Given the description of an element on the screen output the (x, y) to click on. 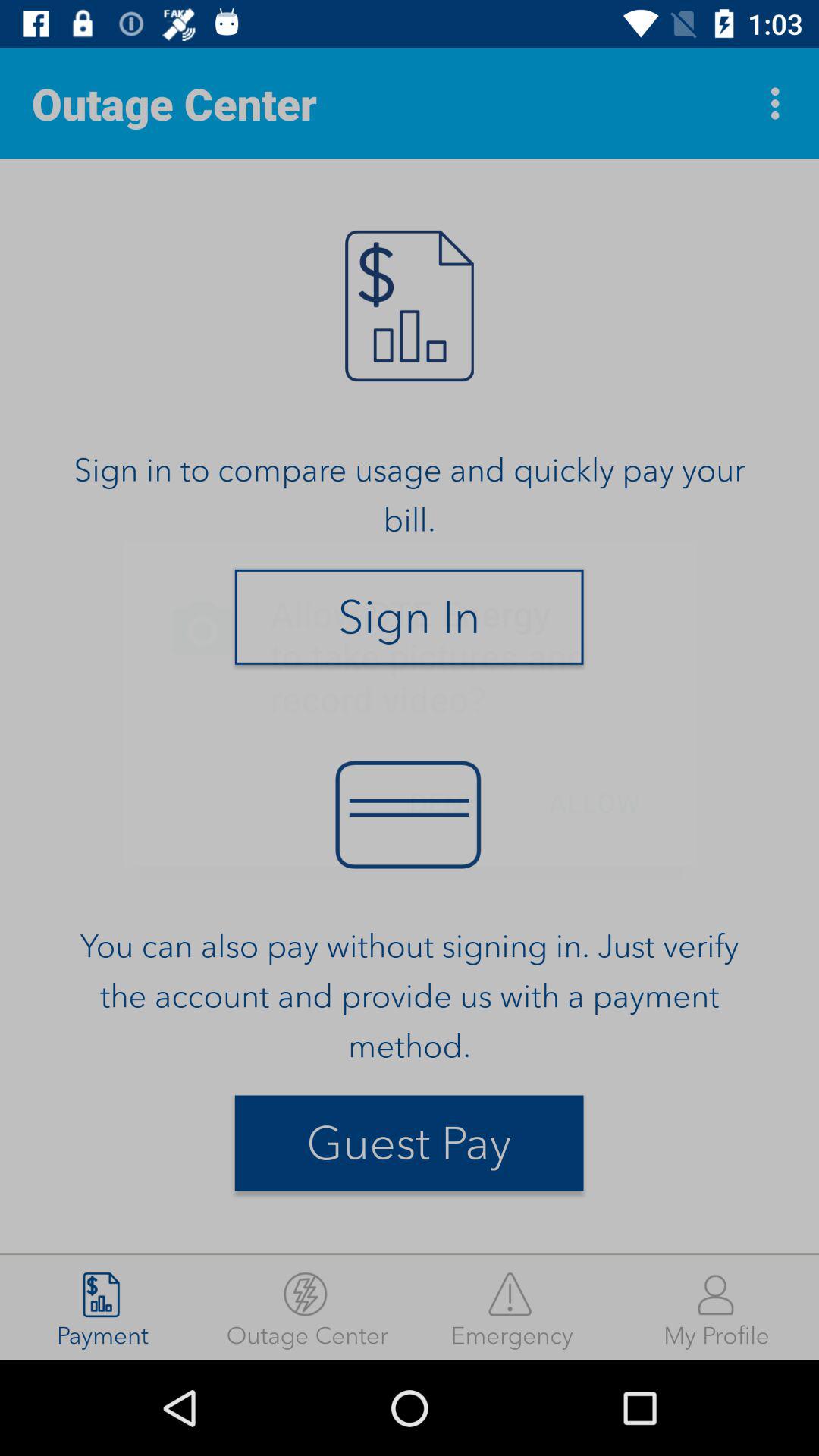
turn on the item below the you can also item (408, 1142)
